Given the description of an element on the screen output the (x, y) to click on. 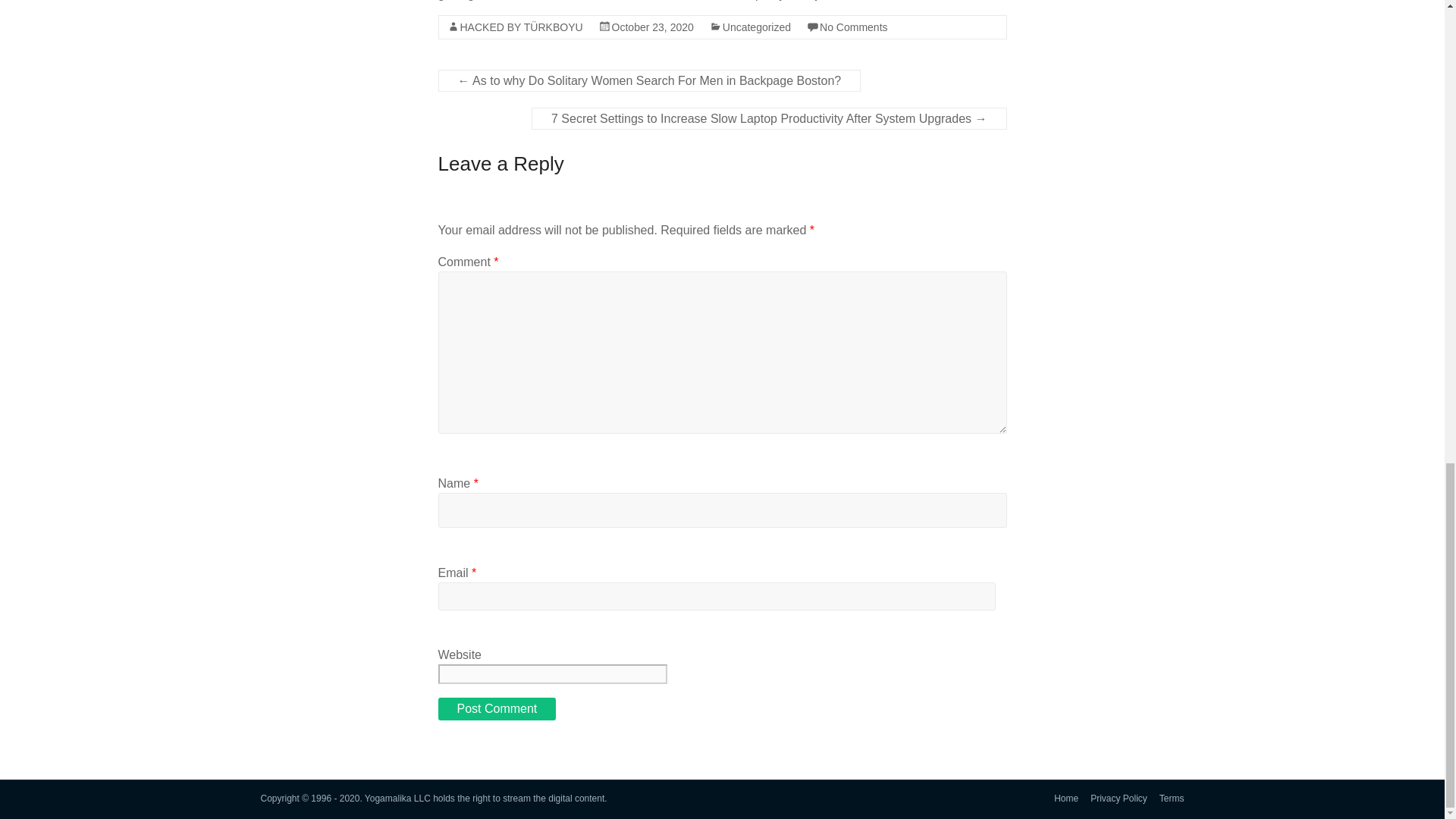
Privacy Policy (1112, 799)
Post Comment (497, 708)
October 23, 2020 (652, 27)
Uncategorized (756, 27)
Terms (1166, 799)
Post Comment (497, 708)
12:00 am (652, 27)
No Comments (852, 27)
Home (1060, 799)
